Given the description of an element on the screen output the (x, y) to click on. 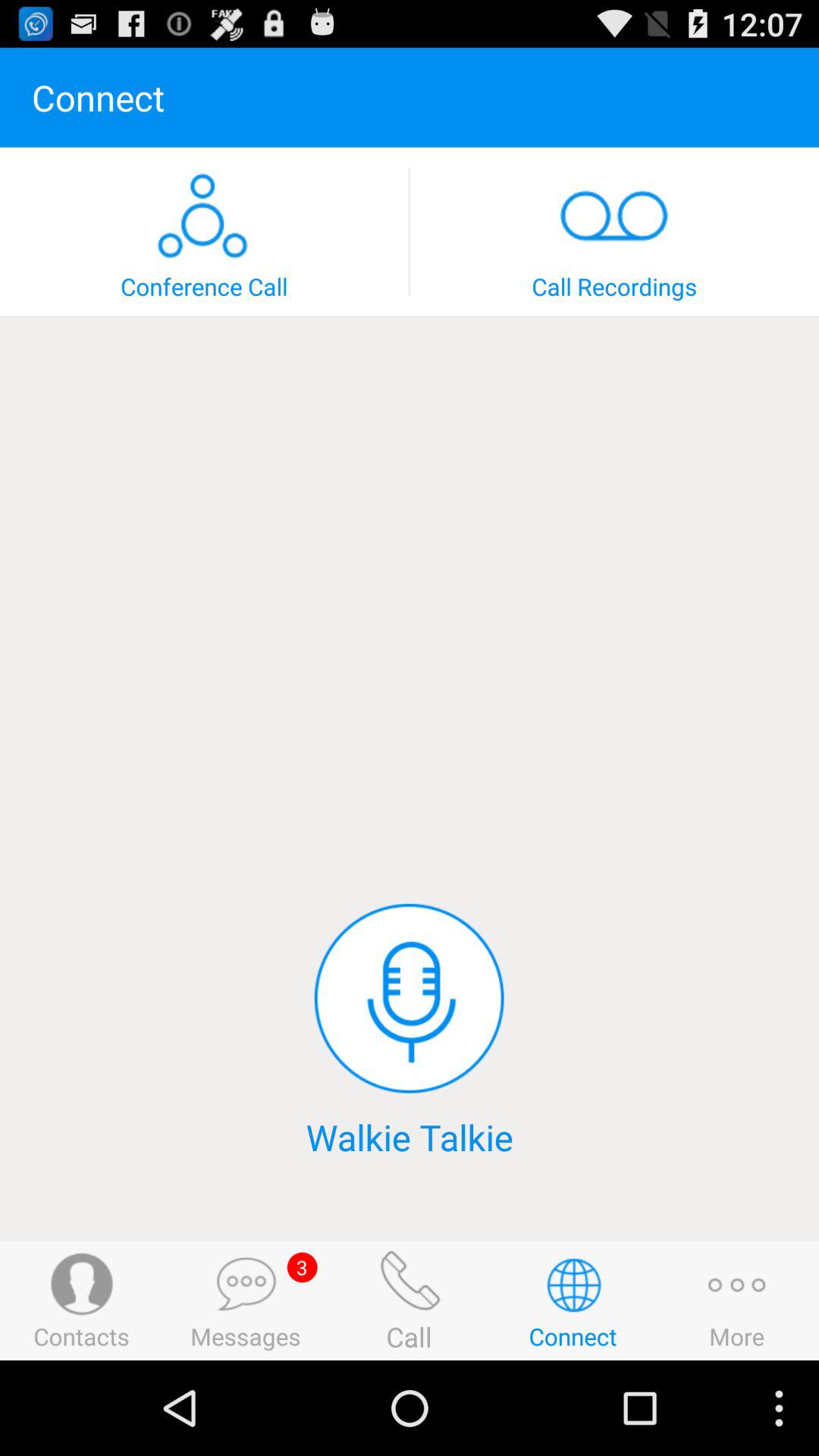
start microphone (408, 998)
